Given the description of an element on the screen output the (x, y) to click on. 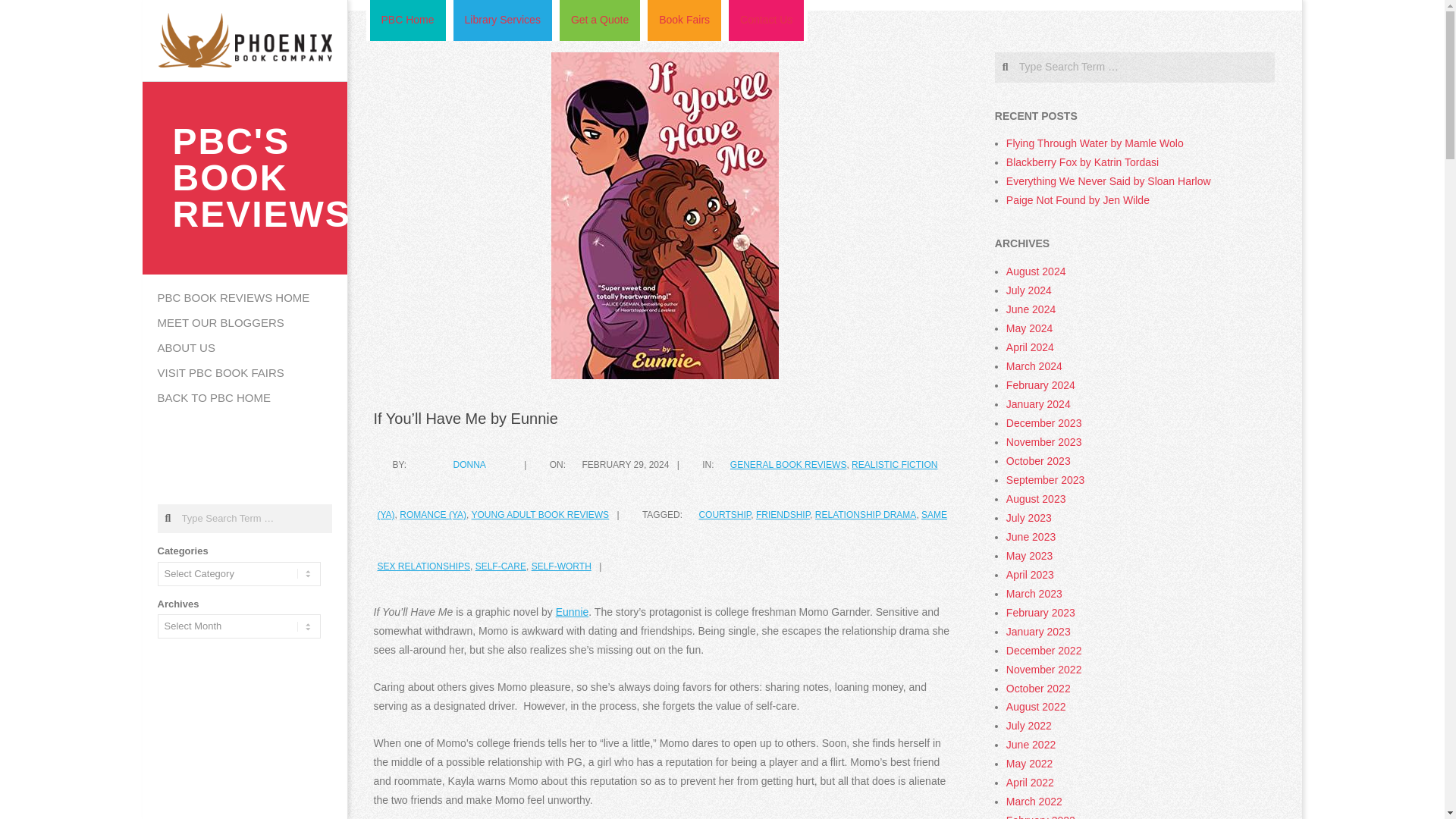
Blackberry Fox by Katrin Tordasi (1082, 162)
PBC Home (406, 19)
PBC'S BOOK REVIEWS (261, 214)
SELF-CARE (500, 566)
Paige Not Found by Jen Wilde (1078, 200)
June 2024 (1030, 309)
BACK TO PBC HOME (244, 398)
COURTSHIP (724, 514)
YOUNG ADULT BOOK REVIEWS (540, 514)
FRIENDSHIP (782, 514)
